Given the description of an element on the screen output the (x, y) to click on. 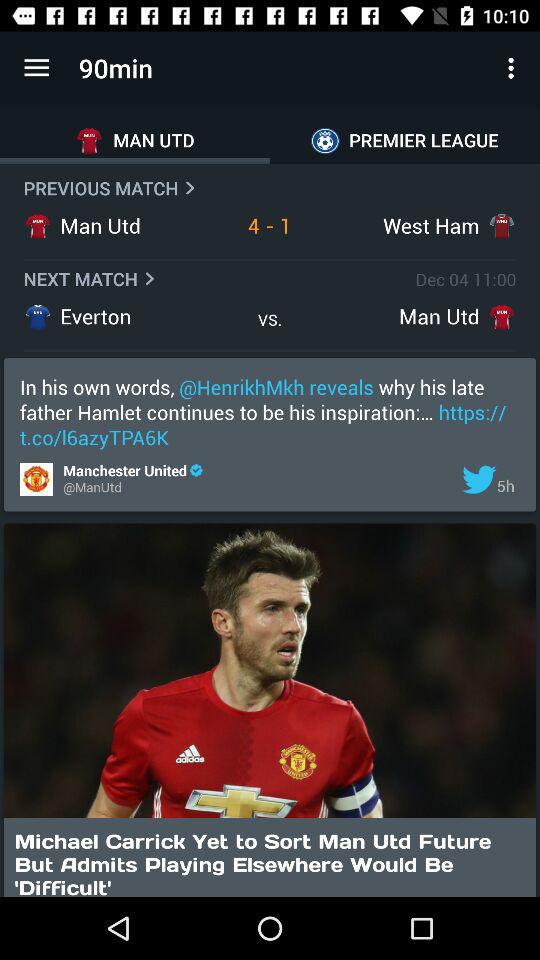
press app to the left of 90min icon (36, 68)
